Given the description of an element on the screen output the (x, y) to click on. 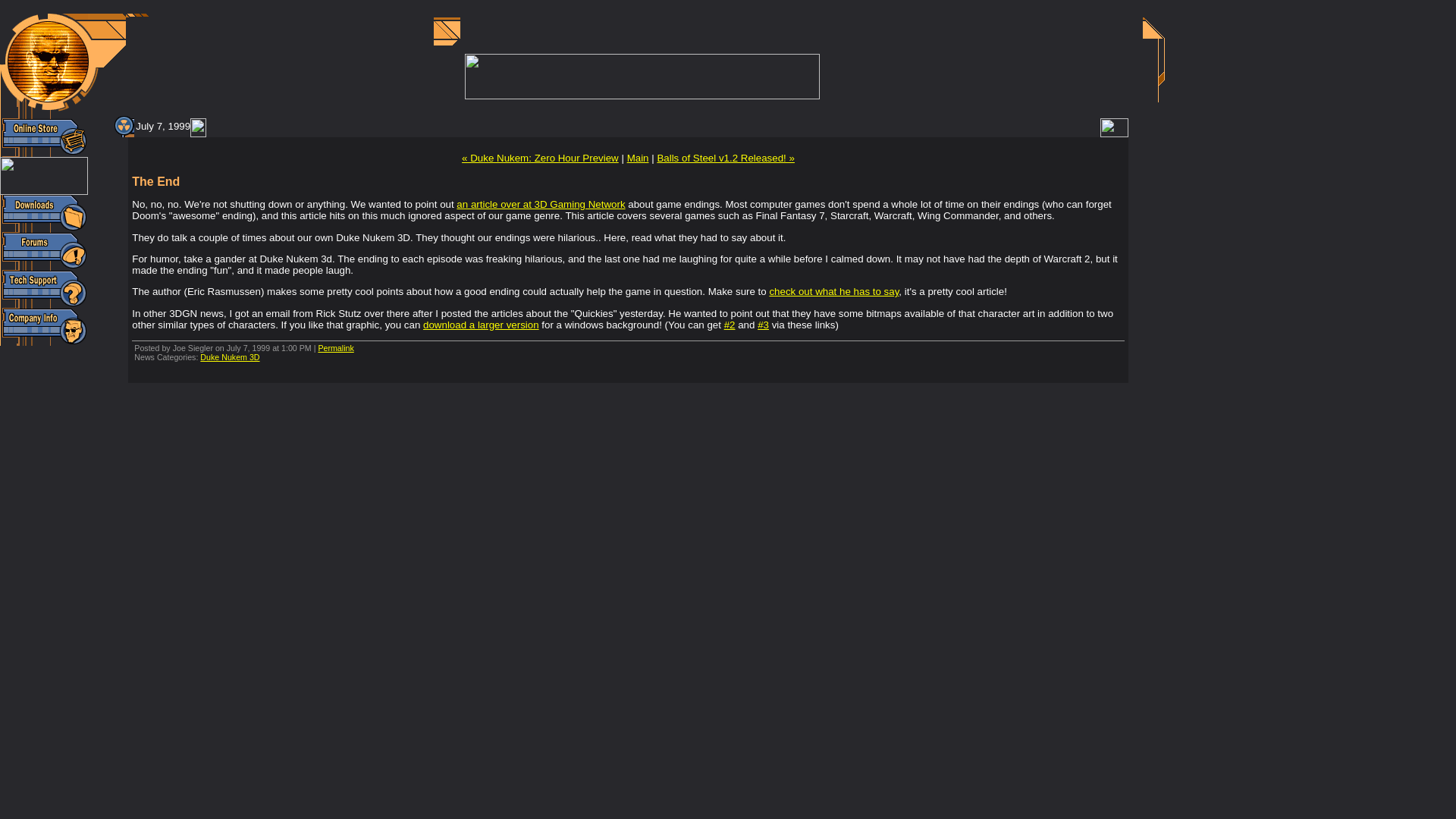
#3 Element type: text (762, 324)
Permalink Element type: text (335, 347)
#2 Element type: text (729, 324)
an article over at 3D Gaming Network Element type: text (540, 204)
Main Element type: text (638, 157)
Duke Nukem 3D Element type: text (229, 356)
download a larger version Element type: text (481, 324)
check out what he has to say Element type: text (833, 291)
